Given the description of an element on the screen output the (x, y) to click on. 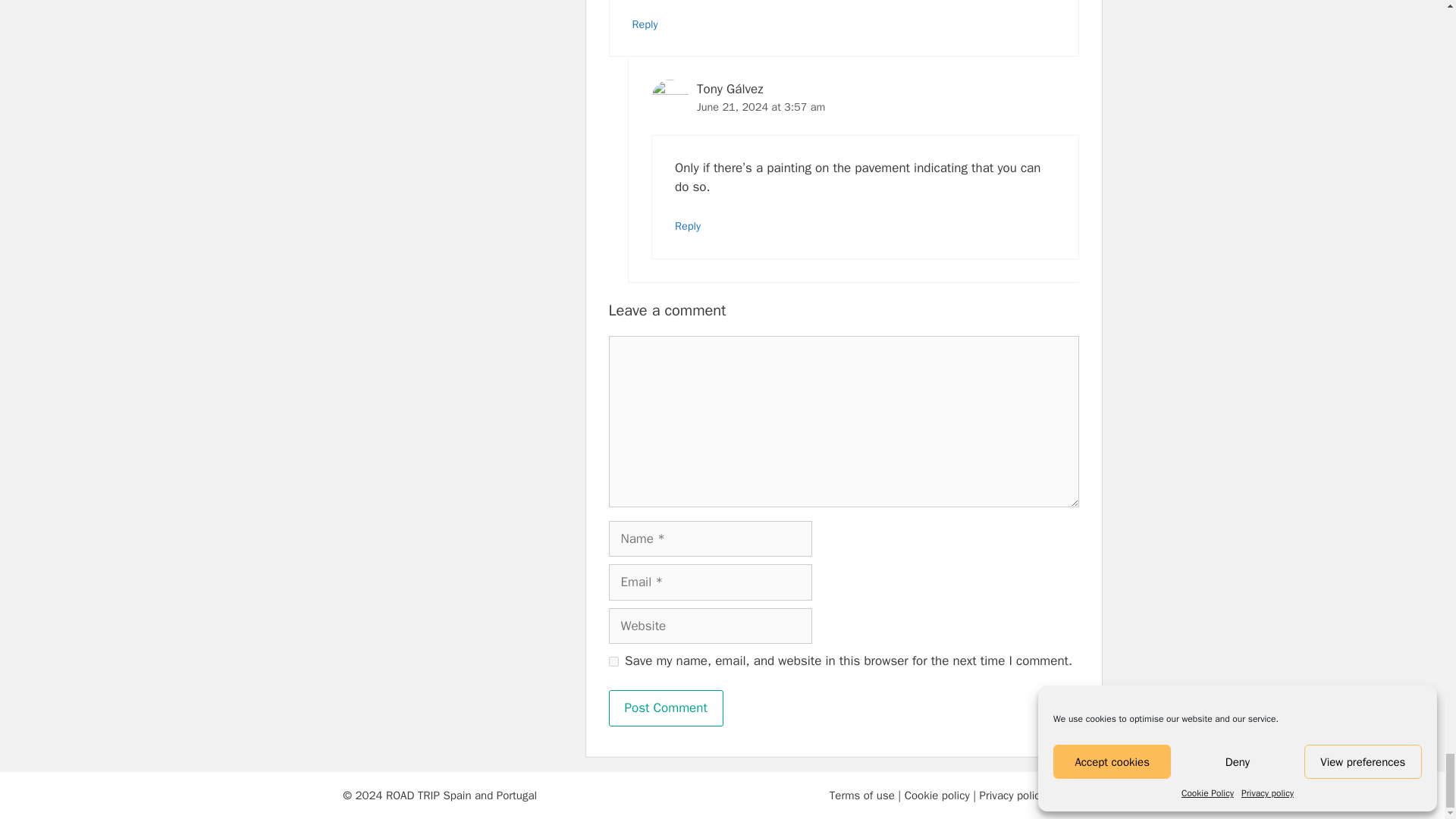
Post Comment (665, 708)
yes (612, 661)
